Given the description of an element on the screen output the (x, y) to click on. 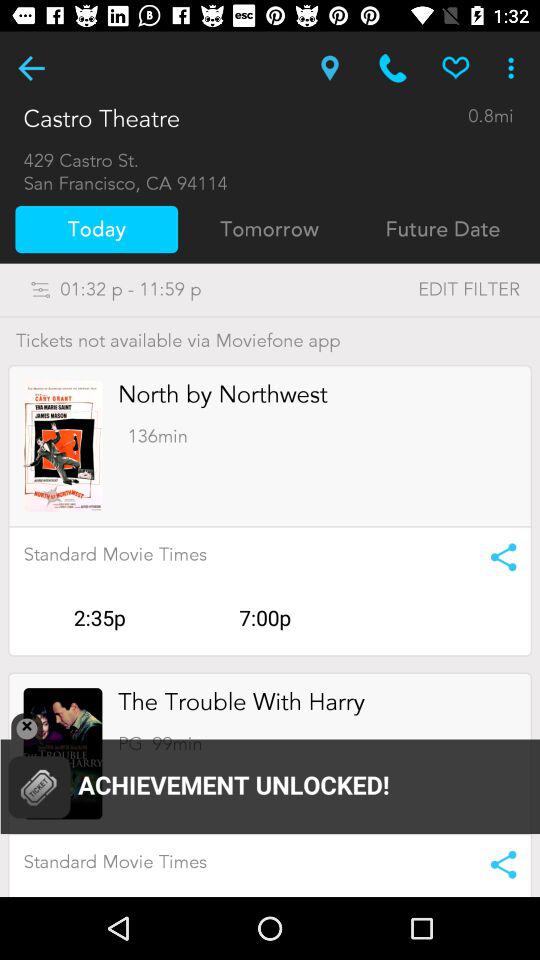
share button (496, 557)
